Given the description of an element on the screen output the (x, y) to click on. 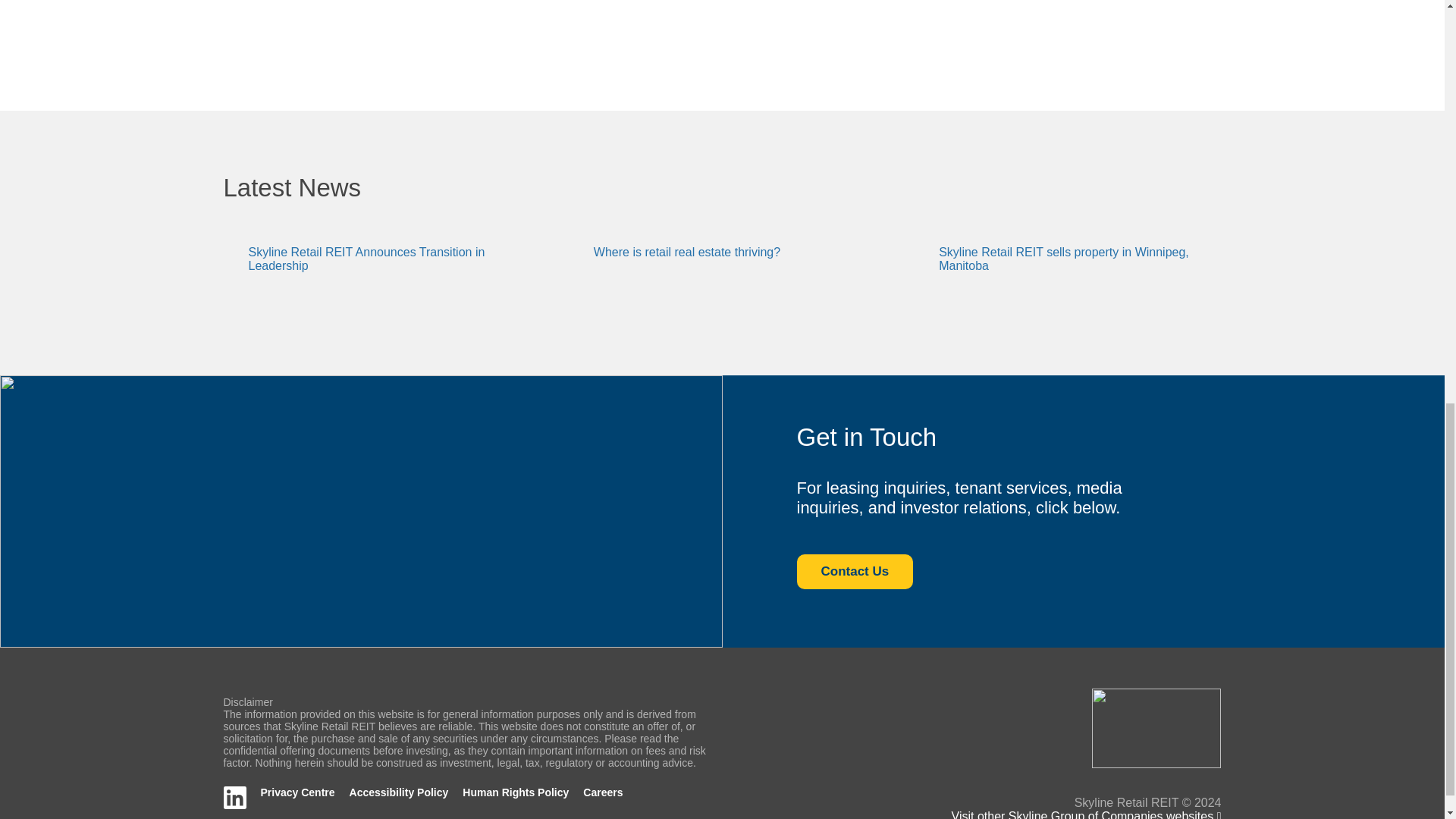
Where is retail real estate thriving? (687, 251)
Careers (603, 792)
Skyline Retail REIT sells property in Winnipeg, Manitoba (1064, 258)
Human Rights Policy (516, 792)
Skyline Retail REIT Announces Transition in Leadership (366, 258)
Accessibility Policy (398, 792)
Visit other Skyline Group of Companies websites (1086, 814)
Privacy Centre (297, 792)
Contact Us (854, 571)
Skyline Retail (1156, 727)
